Given the description of an element on the screen output the (x, y) to click on. 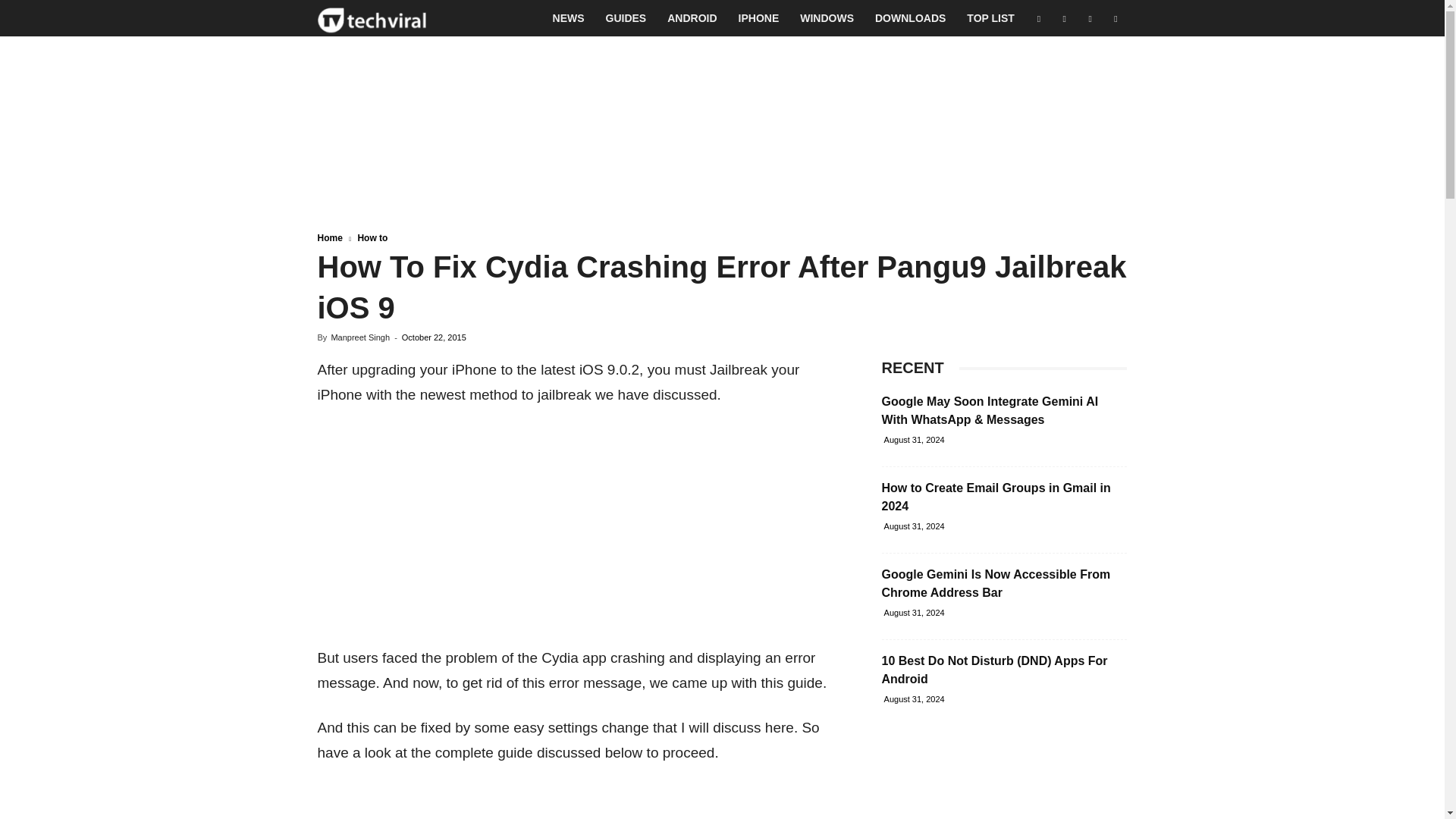
NEWS (568, 18)
ANDROID (691, 18)
DOWNLOADS (910, 18)
Manpreet Singh (360, 337)
IPHONE (759, 18)
Home (329, 237)
WINDOWS (826, 18)
GUIDES (626, 18)
Tech Viral (371, 18)
TOP LIST (990, 18)
